Given the description of an element on the screen output the (x, y) to click on. 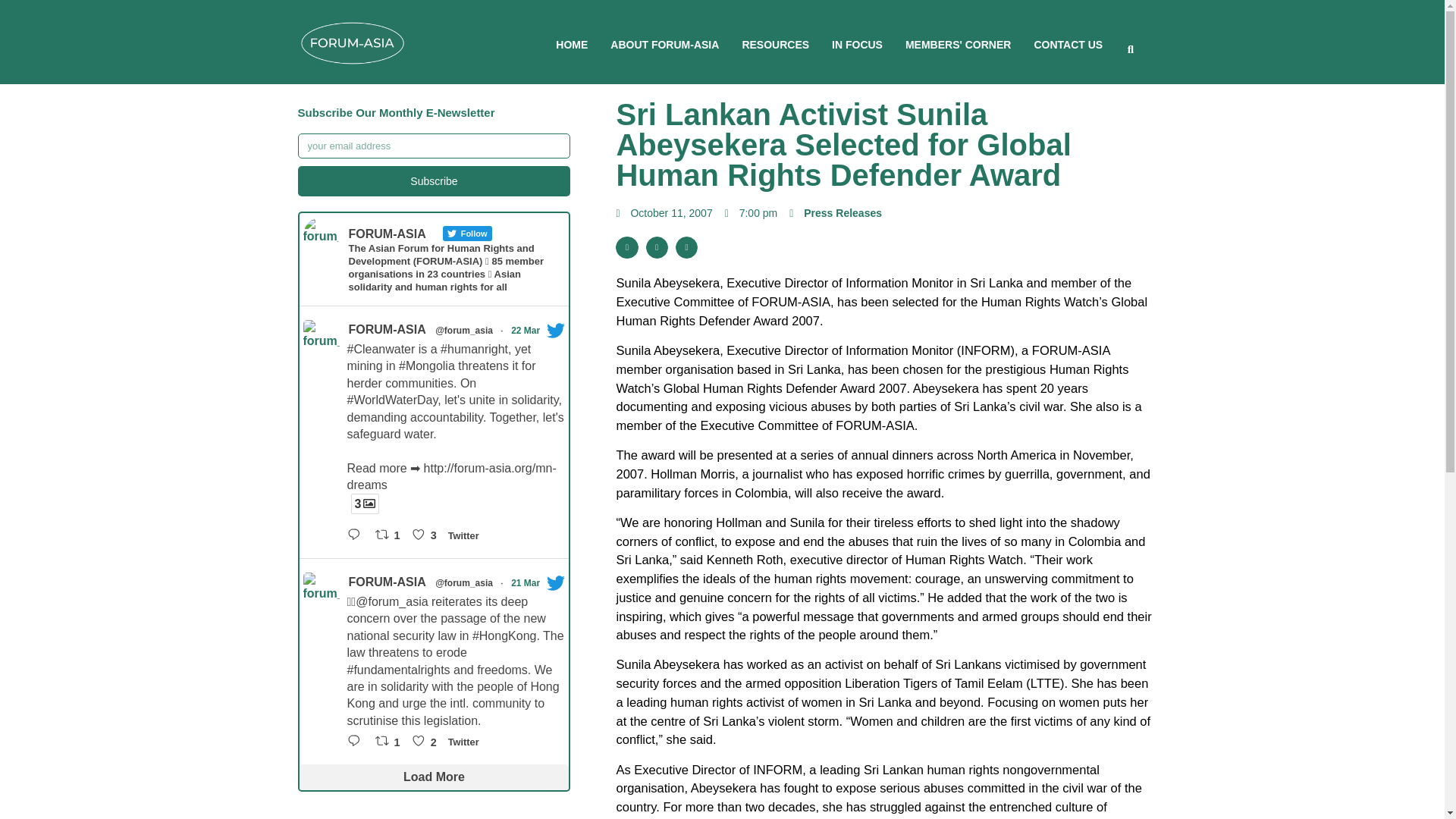
CONTACT US (1067, 44)
IN FOCUS (856, 44)
MEMBERS' CORNER (957, 44)
ABOUT FORUM-ASIA (664, 44)
HOME (571, 44)
RESOURCES (774, 44)
